Given the description of an element on the screen output the (x, y) to click on. 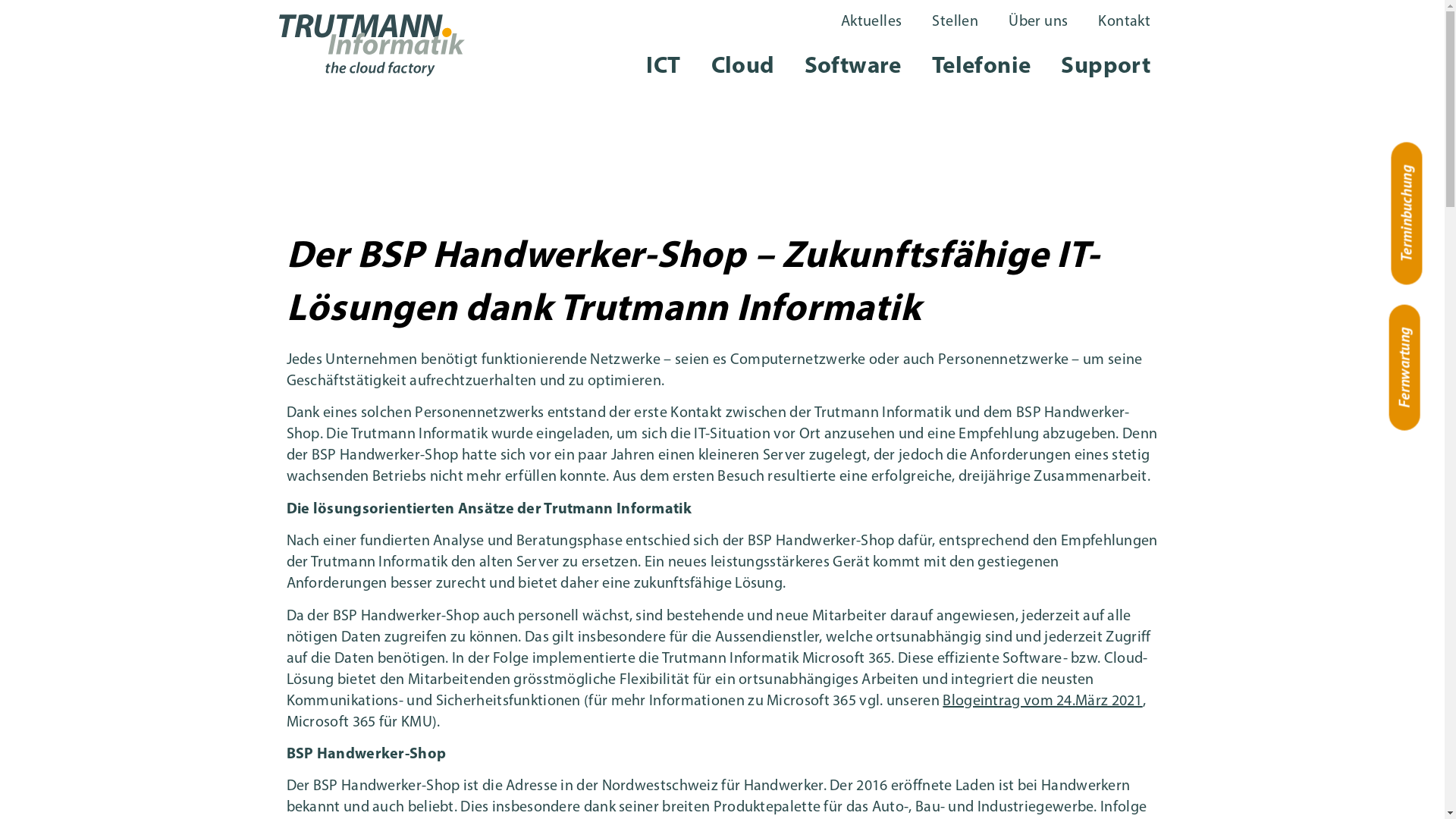
Telefonie Element type: text (981, 66)
Cloud Element type: text (742, 66)
Support Element type: text (1105, 66)
Software Element type: text (852, 66)
ICT Element type: text (662, 66)
